Given the description of an element on the screen output the (x, y) to click on. 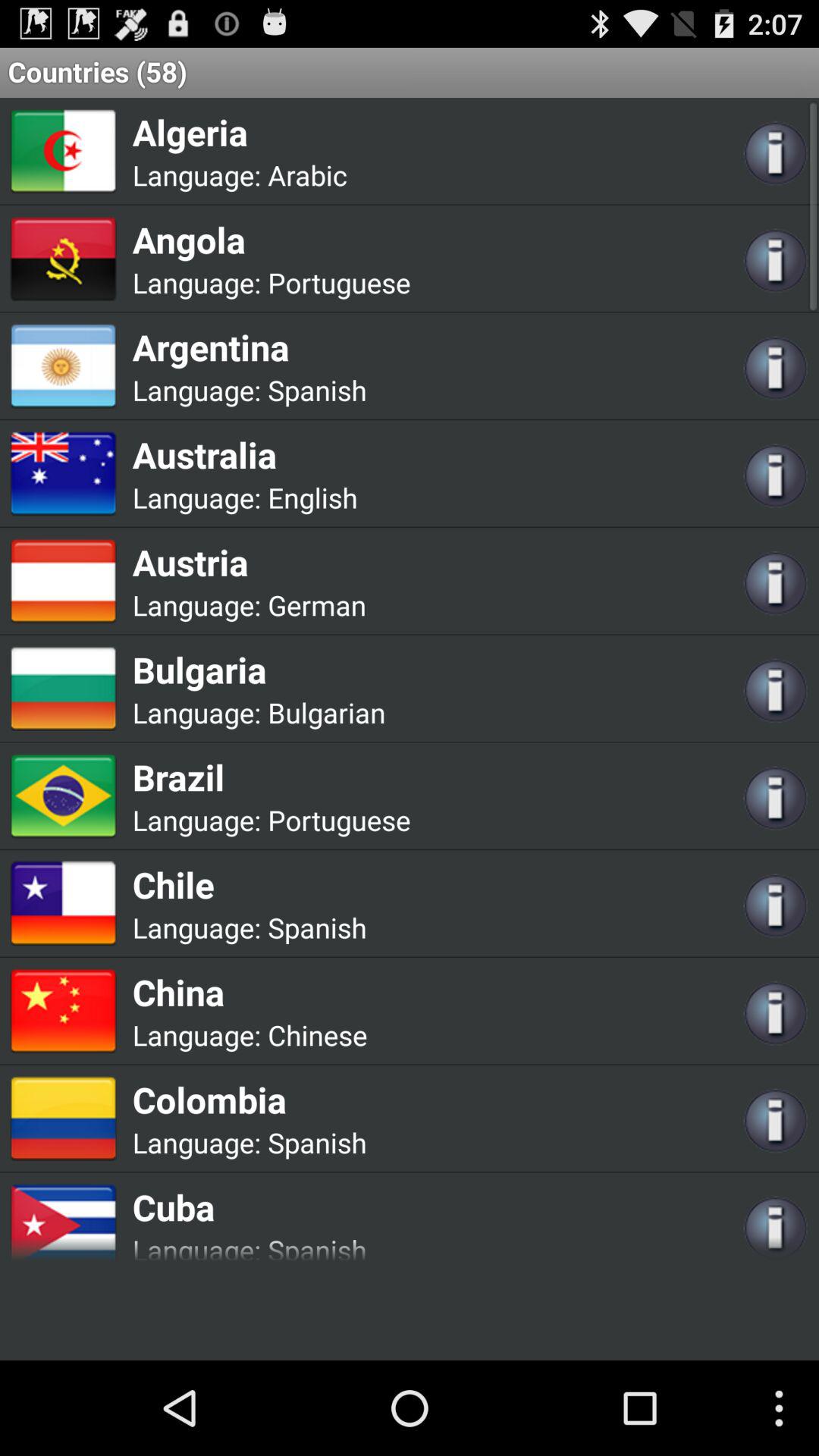
turn off the icon above language:  app (249, 1207)
